Given the description of an element on the screen output the (x, y) to click on. 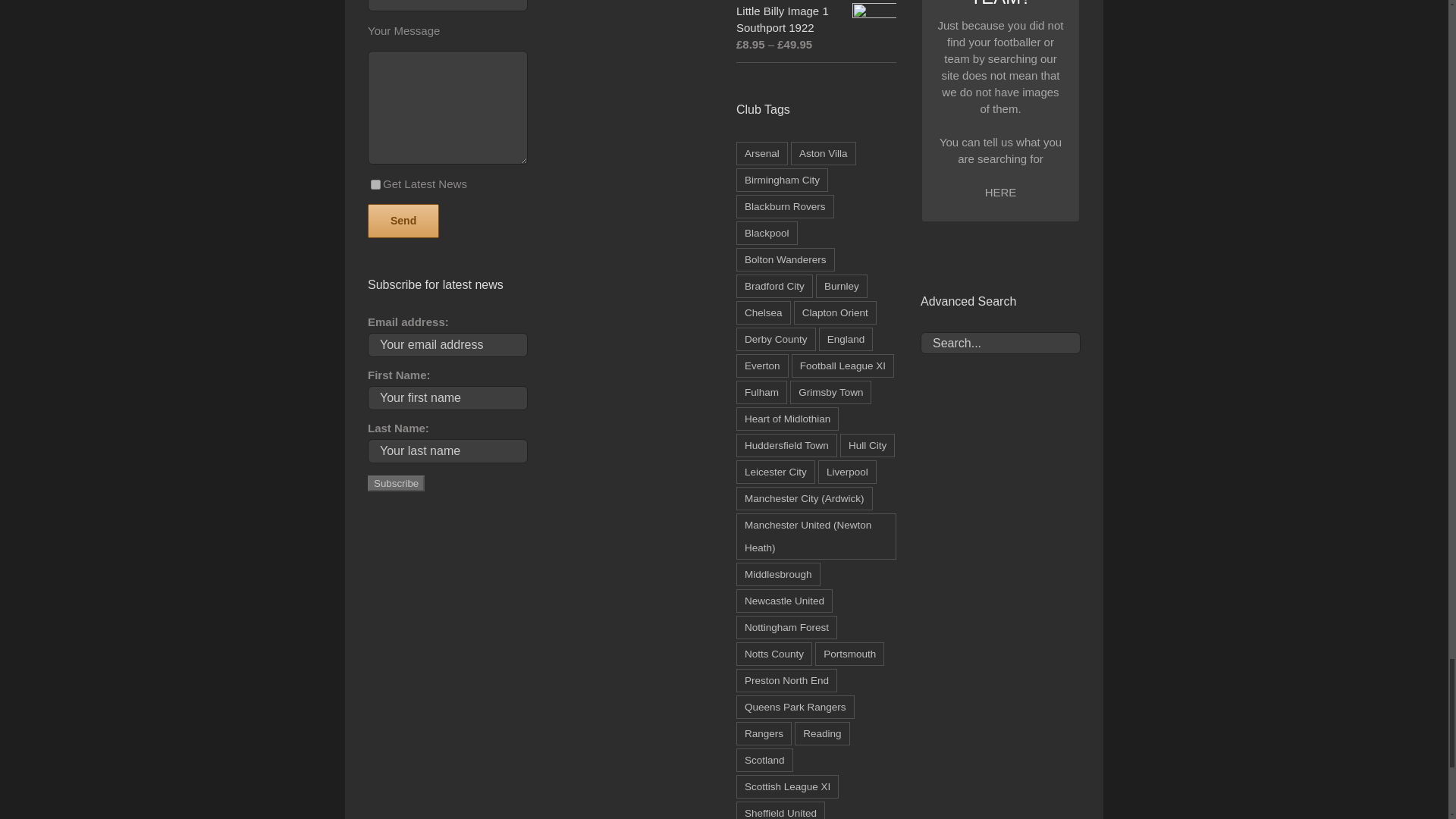
1 (1041, 245)
1 (375, 184)
Send (403, 220)
Subscribe (396, 483)
Send (999, 301)
